Given the description of an element on the screen output the (x, y) to click on. 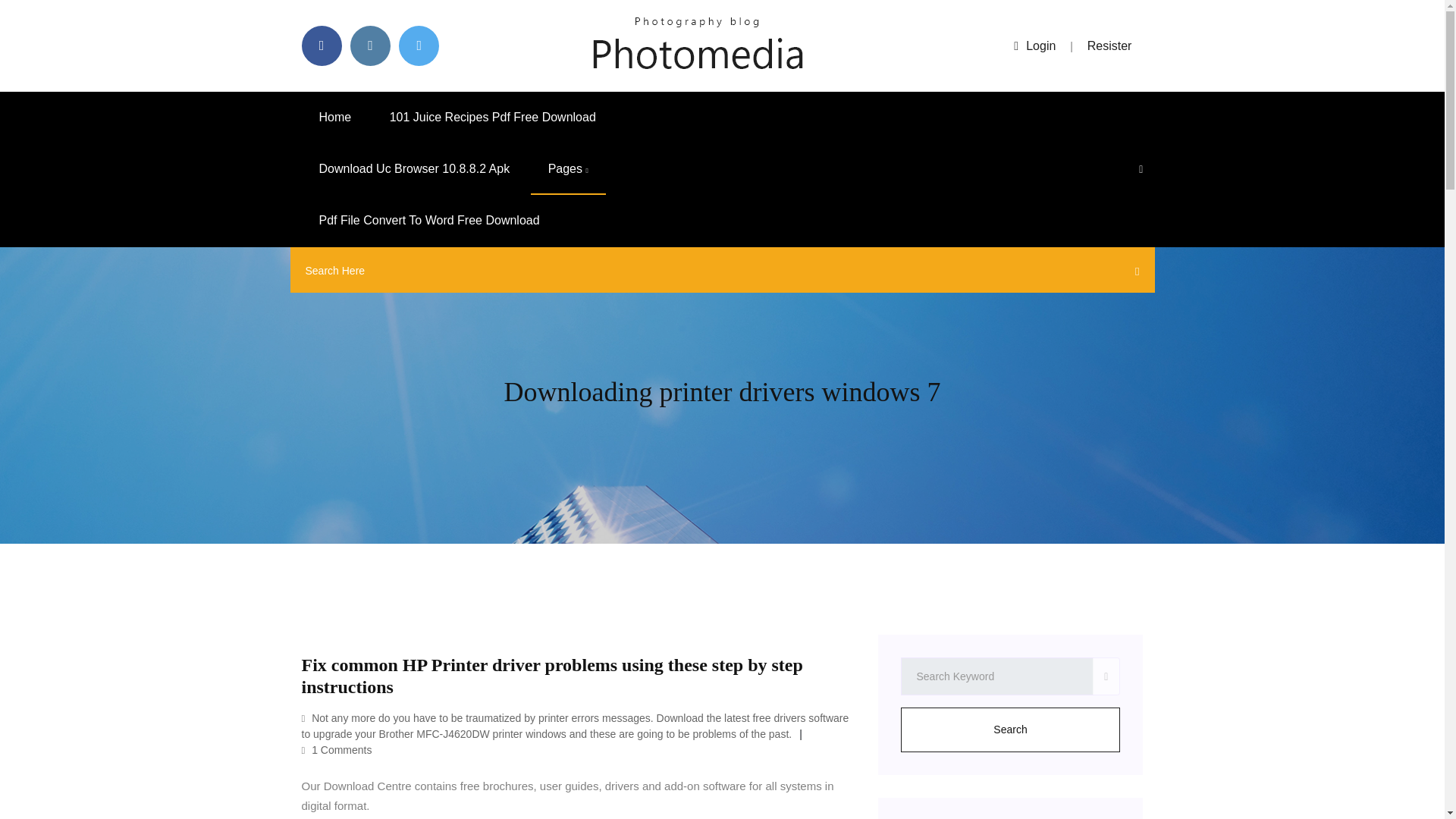
Login (1034, 45)
Pdf File Convert To Word Free Download (429, 220)
Pages (568, 168)
1 Comments (336, 749)
Download Uc Browser 10.8.8.2 Apk (414, 168)
Resister (1109, 45)
101 Juice Recipes Pdf Free Download (492, 117)
Home (335, 117)
